Given the description of an element on the screen output the (x, y) to click on. 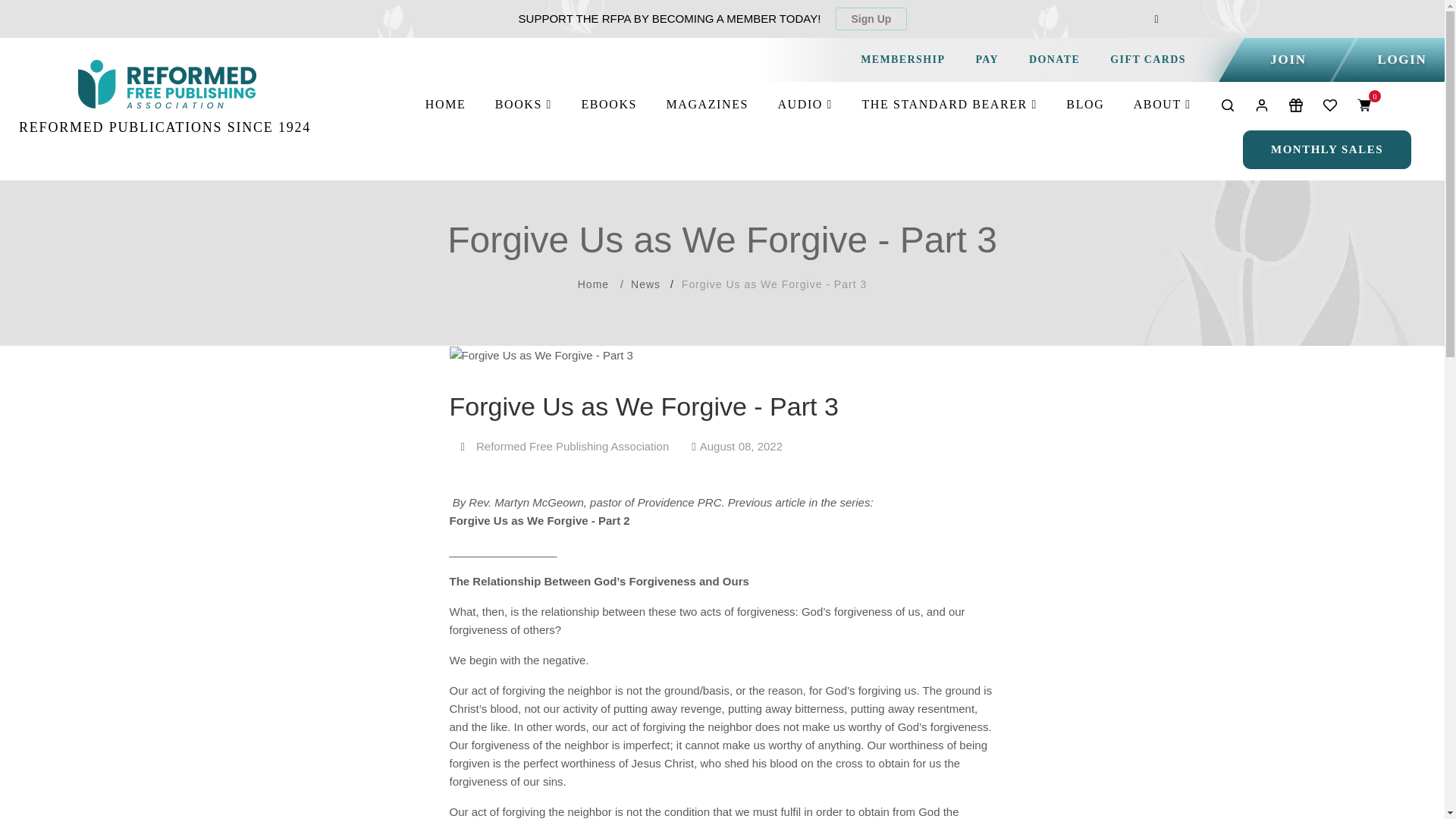
DONATE (1054, 59)
Back to the home page (593, 284)
MEMBERSHIP (902, 59)
GIFT CARDS (1147, 59)
JOIN (1288, 59)
HOME (445, 104)
BOOKS (523, 104)
Sign Up (871, 18)
